Given the description of an element on the screen output the (x, y) to click on. 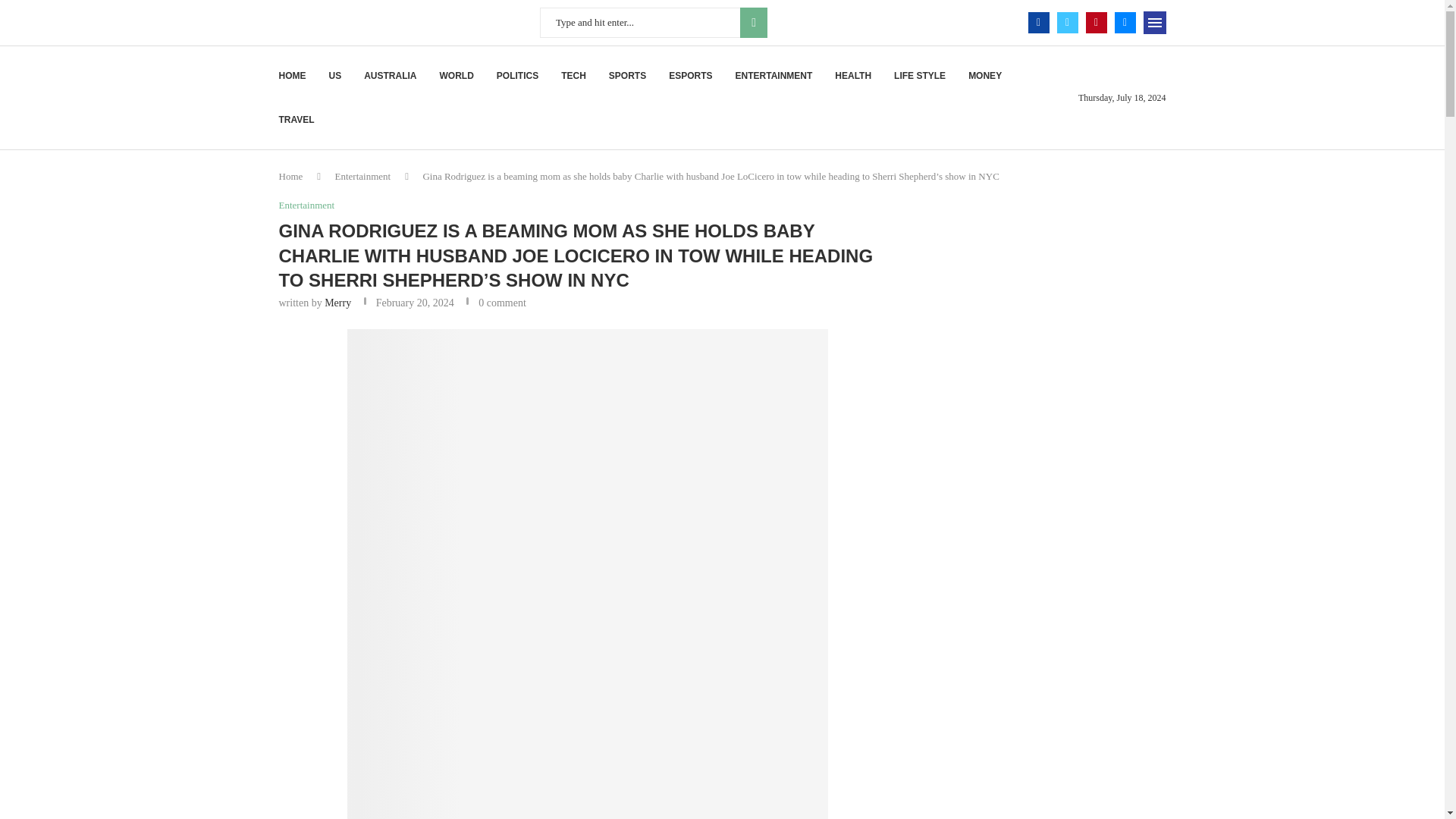
POLITICS (517, 75)
AUSTRALIA (390, 75)
LIFE STYLE (918, 75)
ESPORTS (689, 75)
SEARCH (753, 22)
ENTERTAINMENT (773, 75)
